Given the description of an element on the screen output the (x, y) to click on. 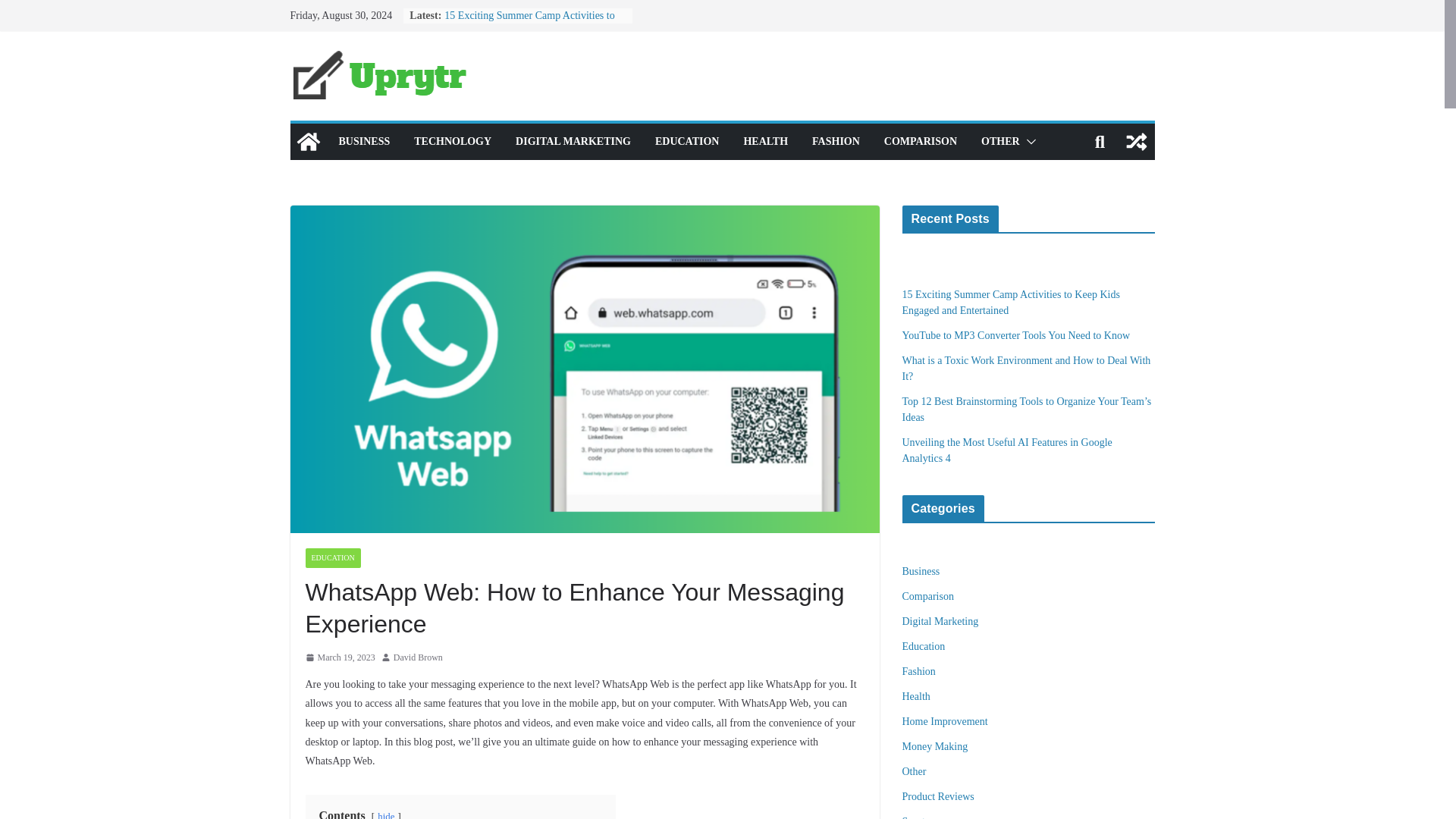
hide (385, 815)
TECHNOLOGY (452, 141)
11:24 am (339, 658)
EDUCATION (331, 557)
DIGITAL MARKETING (572, 141)
March 19, 2023 (339, 658)
David Brown (417, 658)
OTHER (1000, 141)
